Given the description of an element on the screen output the (x, y) to click on. 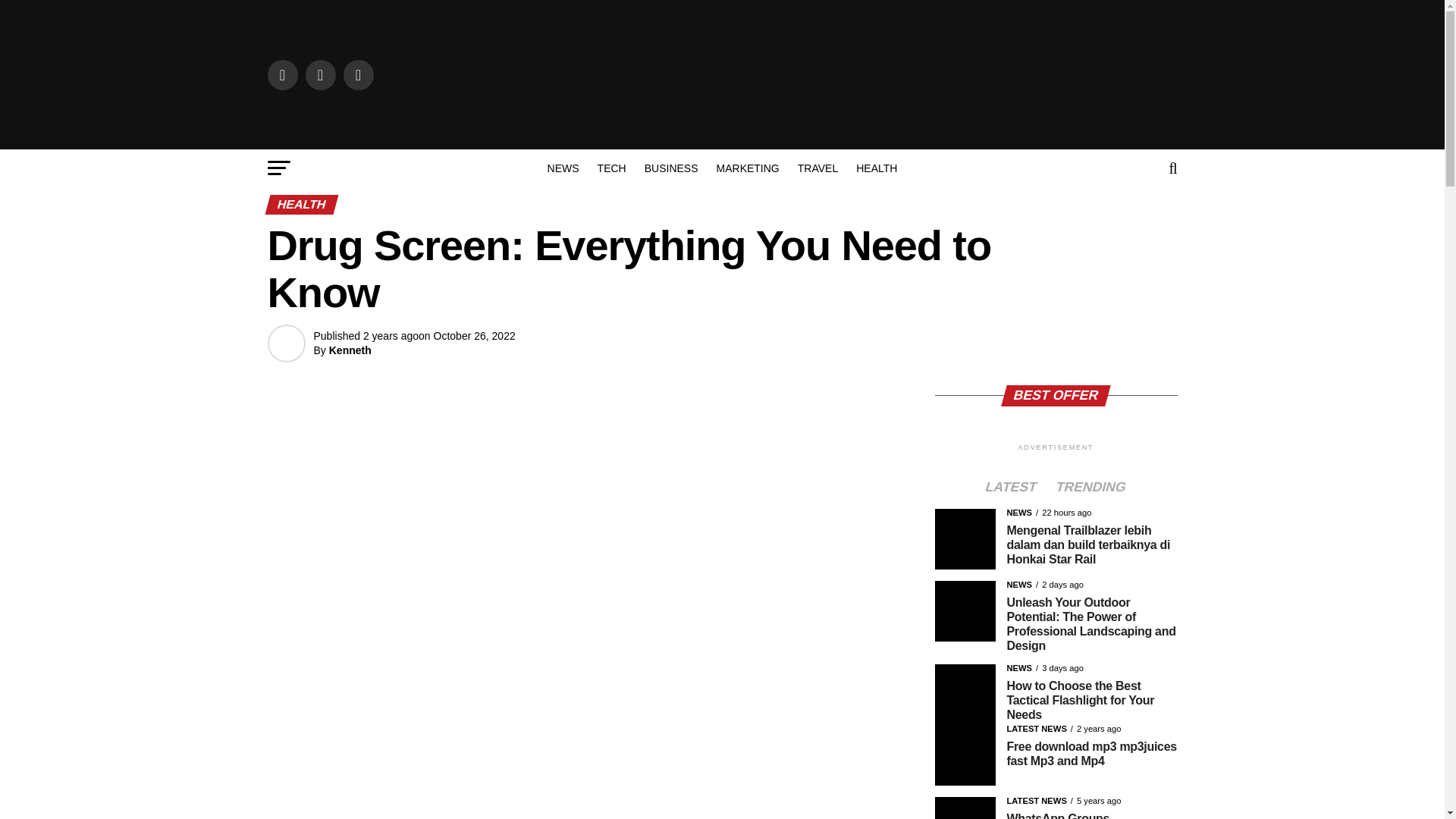
Posts by Kenneth (350, 349)
TRAVEL (818, 168)
TECH (611, 168)
Kenneth (350, 349)
NEWS (563, 168)
HEALTH (876, 168)
BUSINESS (670, 168)
MARKETING (748, 168)
